Given the description of an element on the screen output the (x, y) to click on. 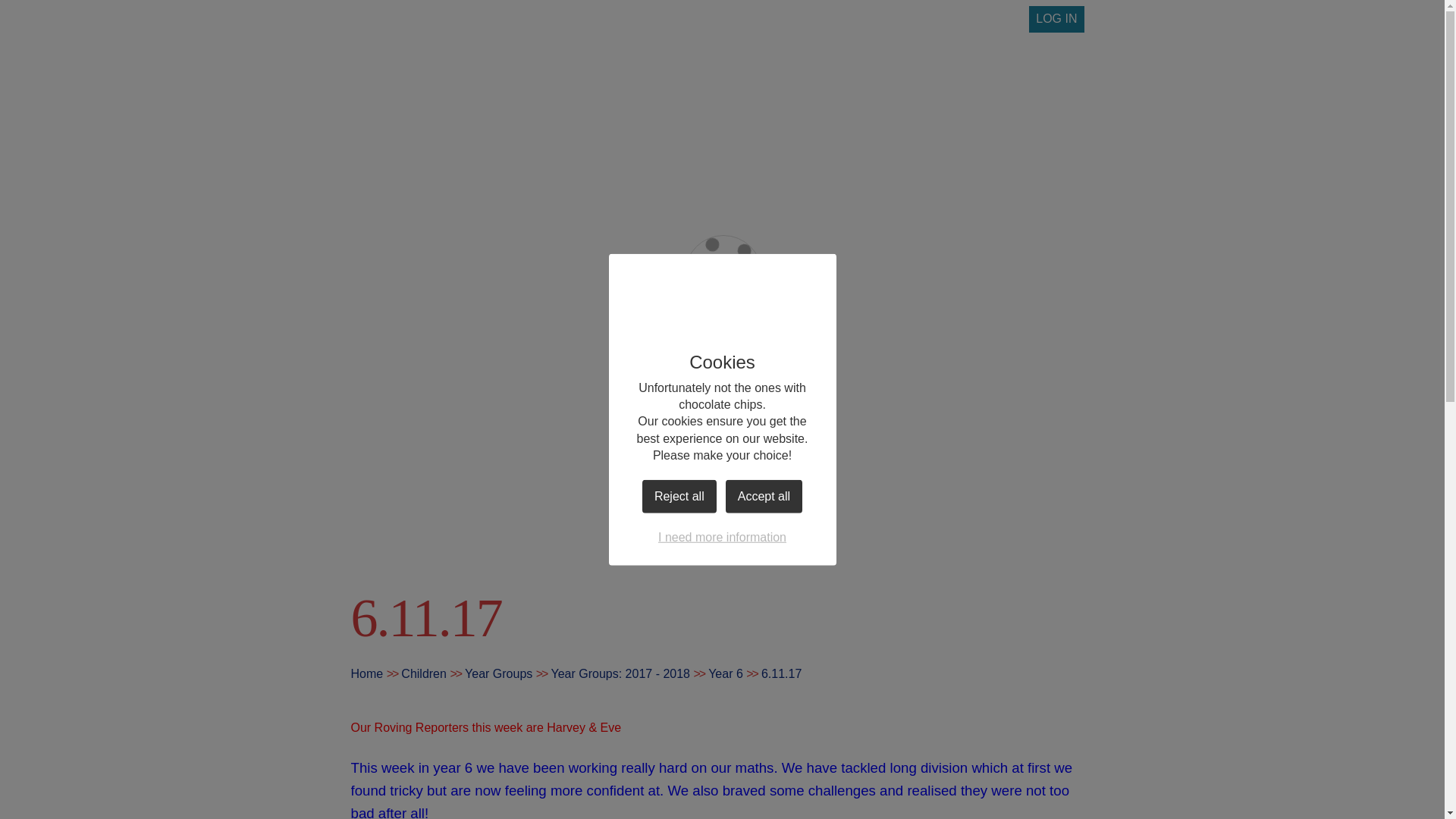
LOG IN (1056, 18)
Home (418, 174)
About Us (521, 174)
